Given the description of an element on the screen output the (x, y) to click on. 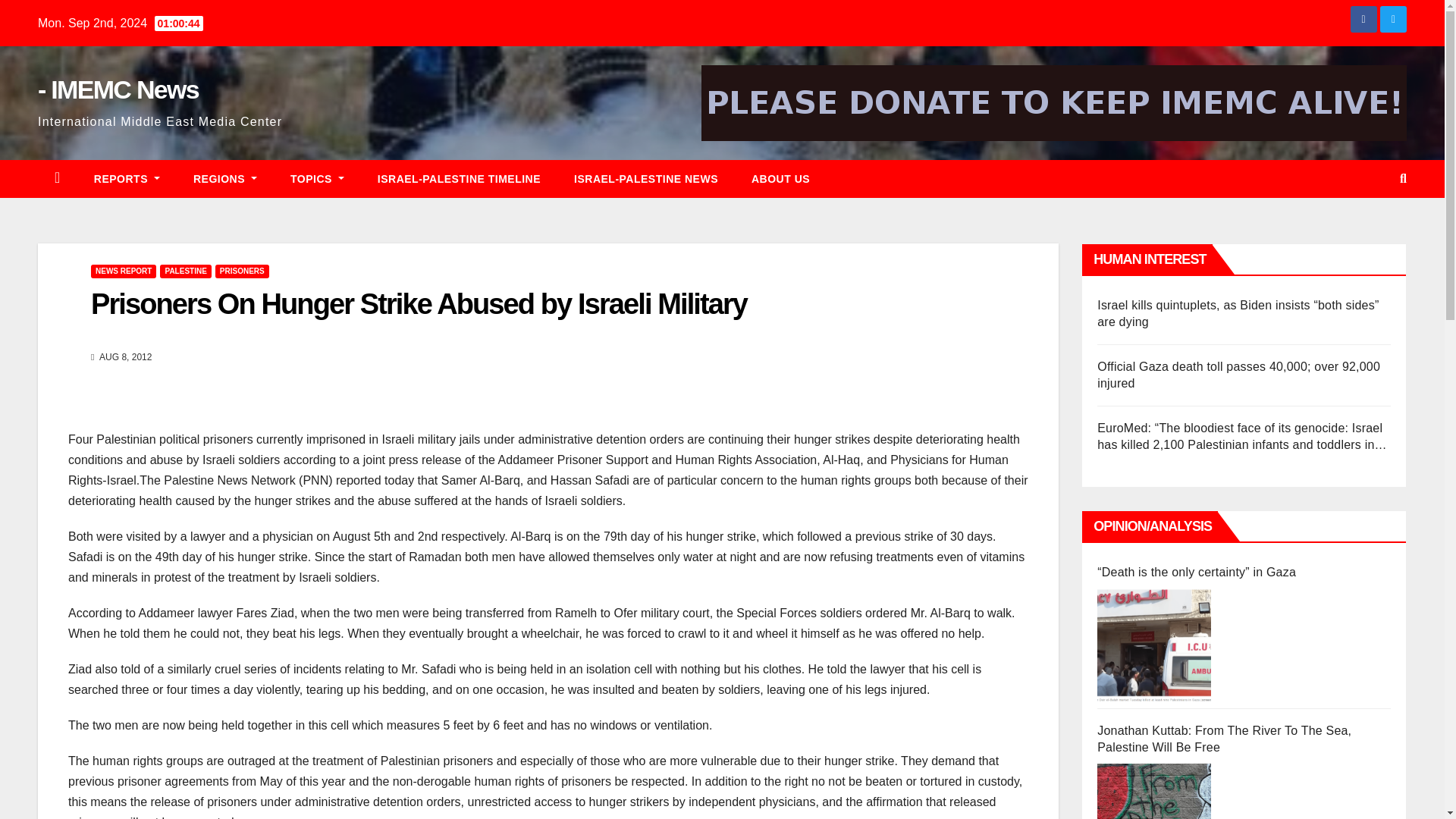
- IMEMC News (117, 89)
REGIONS (224, 178)
TOPICS (317, 178)
Regions (224, 178)
REPORTS (126, 178)
Reports (126, 178)
